Given the description of an element on the screen output the (x, y) to click on. 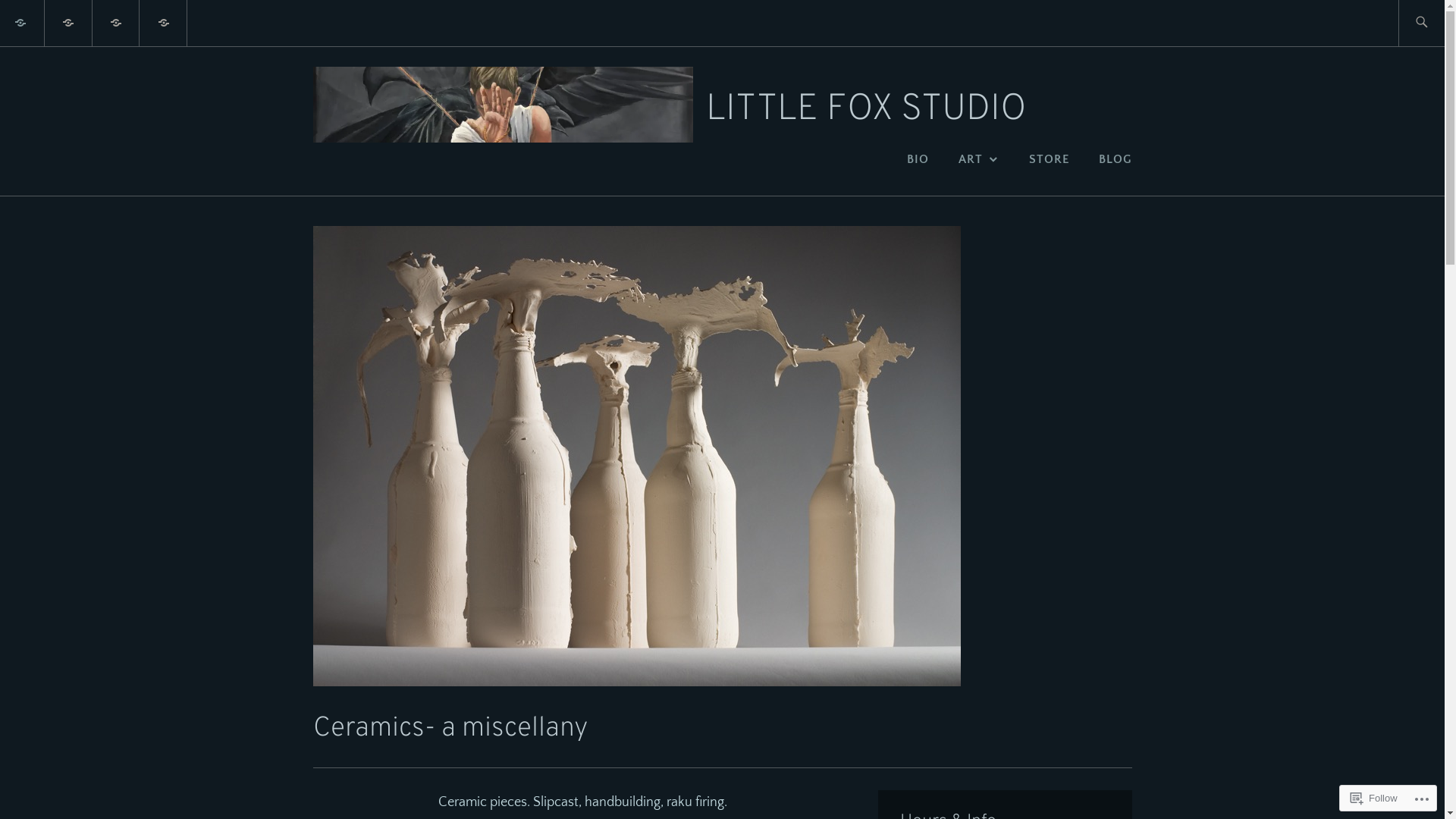
BLOG Element type: text (1114, 158)
BIO Element type: text (917, 158)
Search for: Element type: hover (1438, 23)
ART Element type: text (979, 158)
Search Element type: text (43, 21)
LITTLE FOX STUDIO Element type: text (866, 109)
STORE Element type: text (1049, 158)
Follow Element type: text (1373, 797)
